Given the description of an element on the screen output the (x, y) to click on. 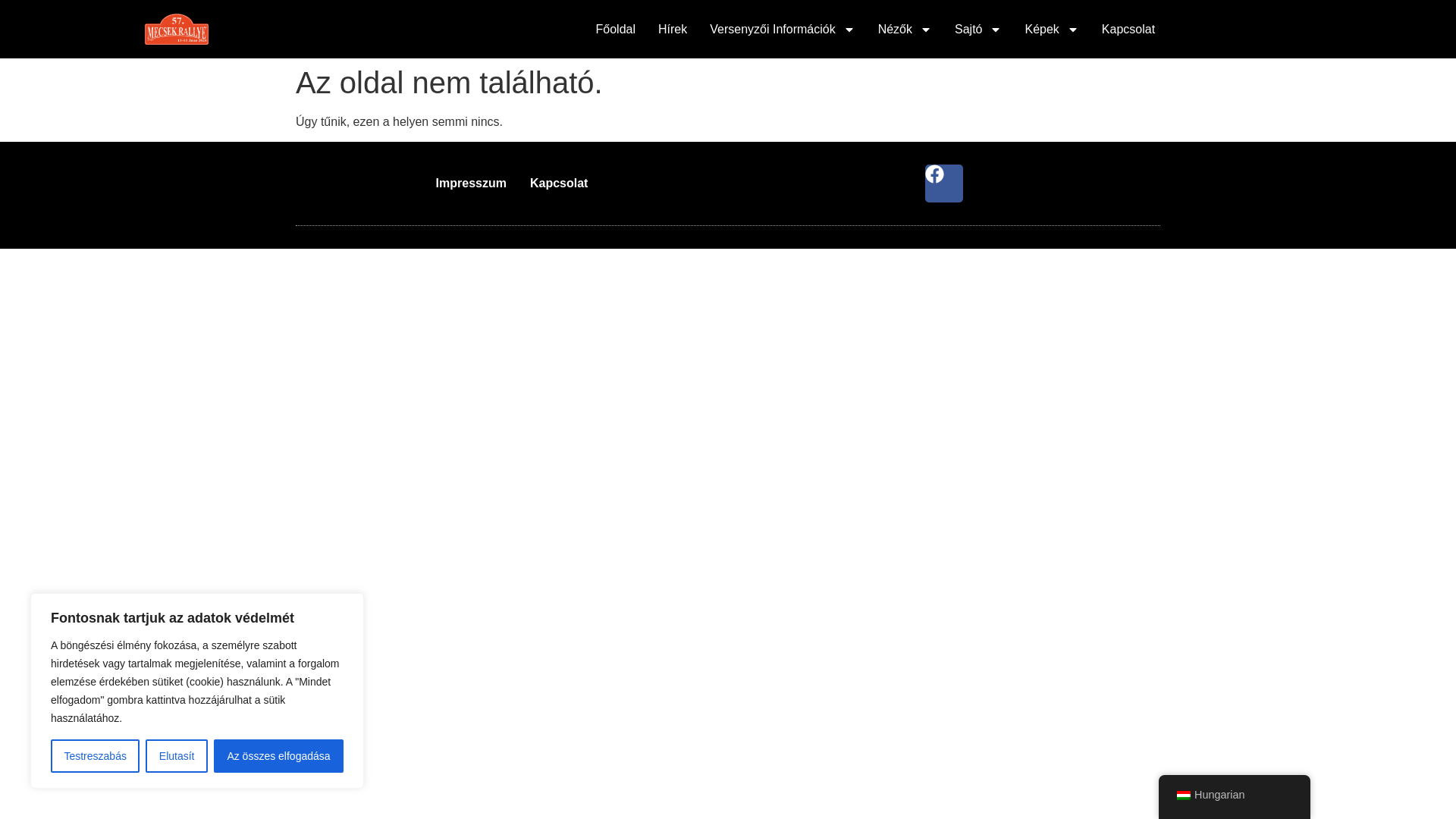
Kapcsolat (1128, 29)
